Given the description of an element on the screen output the (x, y) to click on. 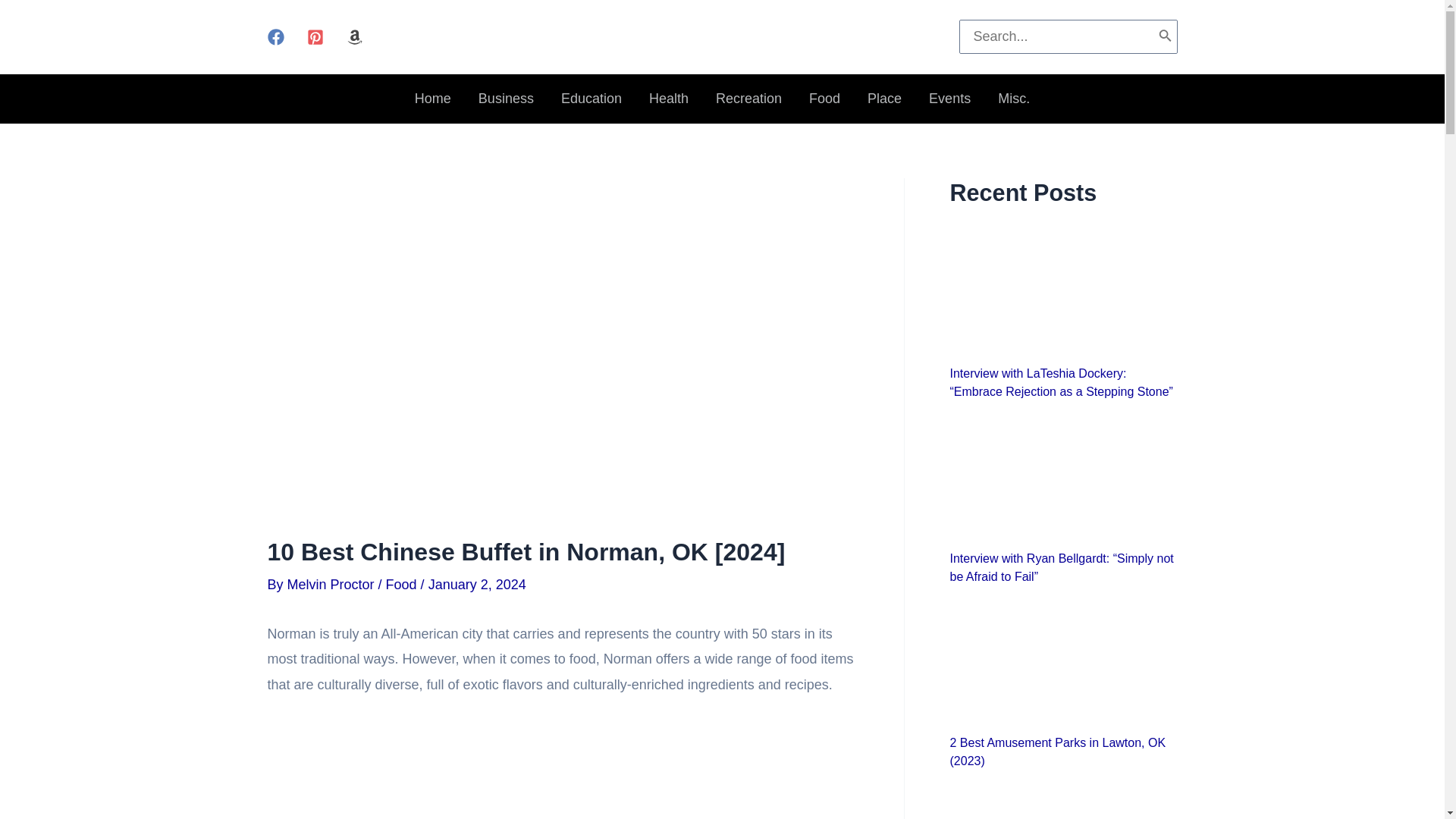
Misc. (1013, 98)
Business (505, 98)
Melvin Proctor (332, 584)
Food (823, 98)
View all posts by Melvin Proctor (332, 584)
Health (667, 98)
Recreation (747, 98)
Events (949, 98)
Home (432, 98)
Food (400, 584)
